Given the description of an element on the screen output the (x, y) to click on. 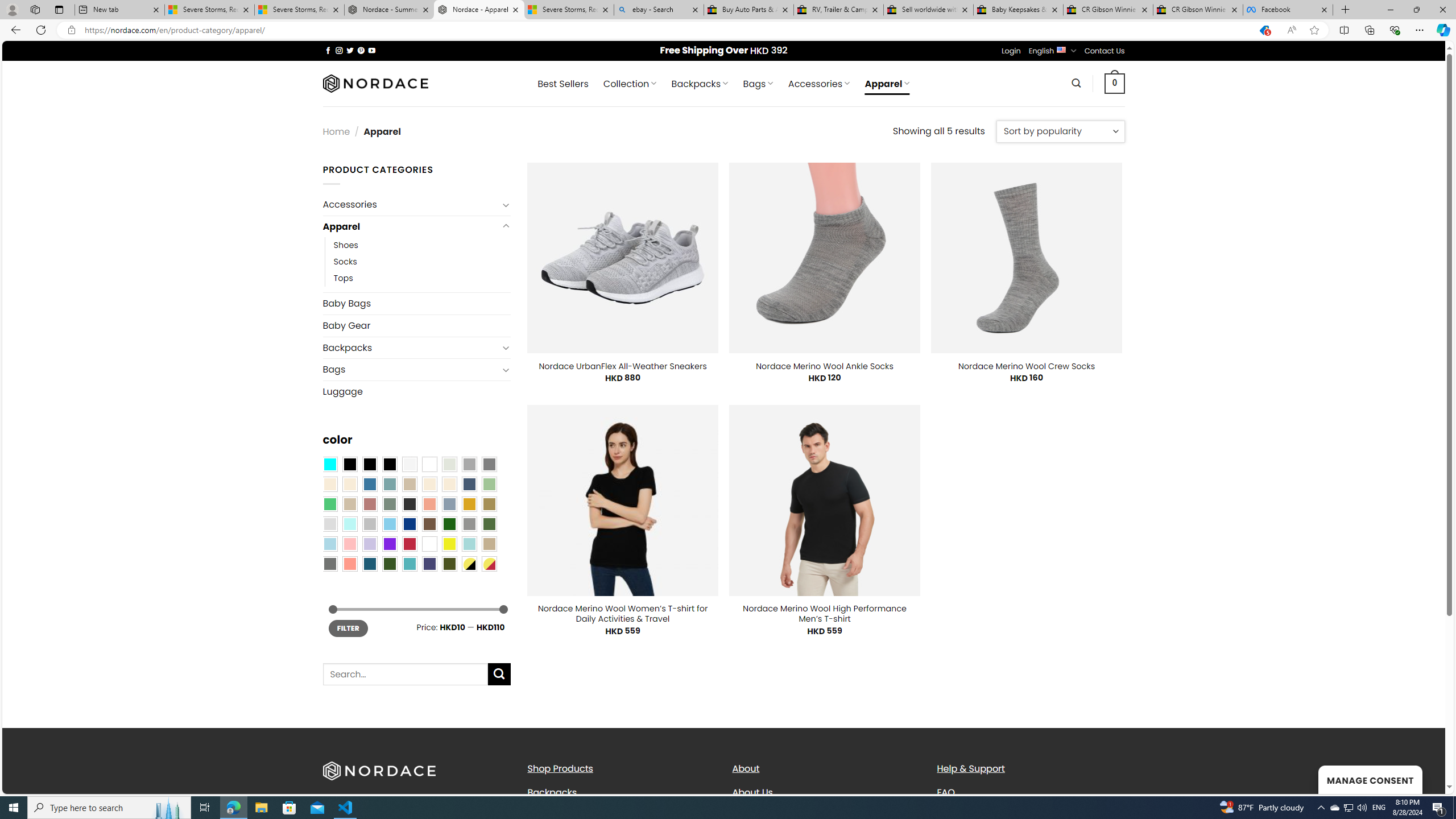
Tops (422, 278)
About Us (752, 792)
Dark Green (449, 523)
Sage (389, 503)
Peach Pink (349, 563)
White (429, 543)
Green (488, 523)
Follow on Pinterest (360, 49)
All Black (349, 464)
